Given the description of an element on the screen output the (x, y) to click on. 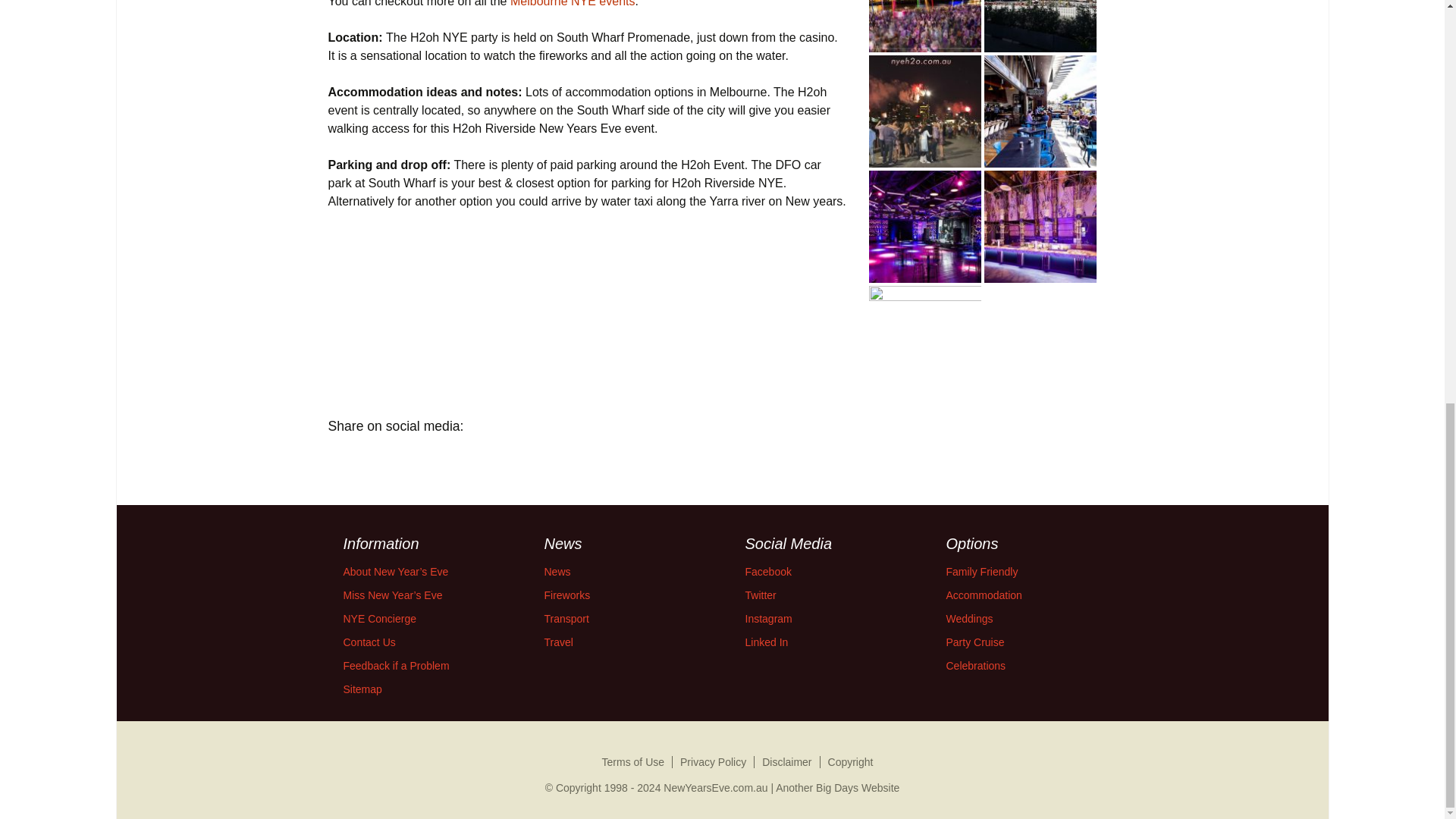
Share on Facebook (344, 461)
Transport (566, 618)
Melbourne NYE events (572, 3)
Share on Twitter (386, 461)
Feedback if a Problem (395, 665)
Facebook (767, 571)
Contact Us (368, 642)
Travel (558, 642)
News (557, 571)
Big Days (837, 787)
